Given the description of an element on the screen output the (x, y) to click on. 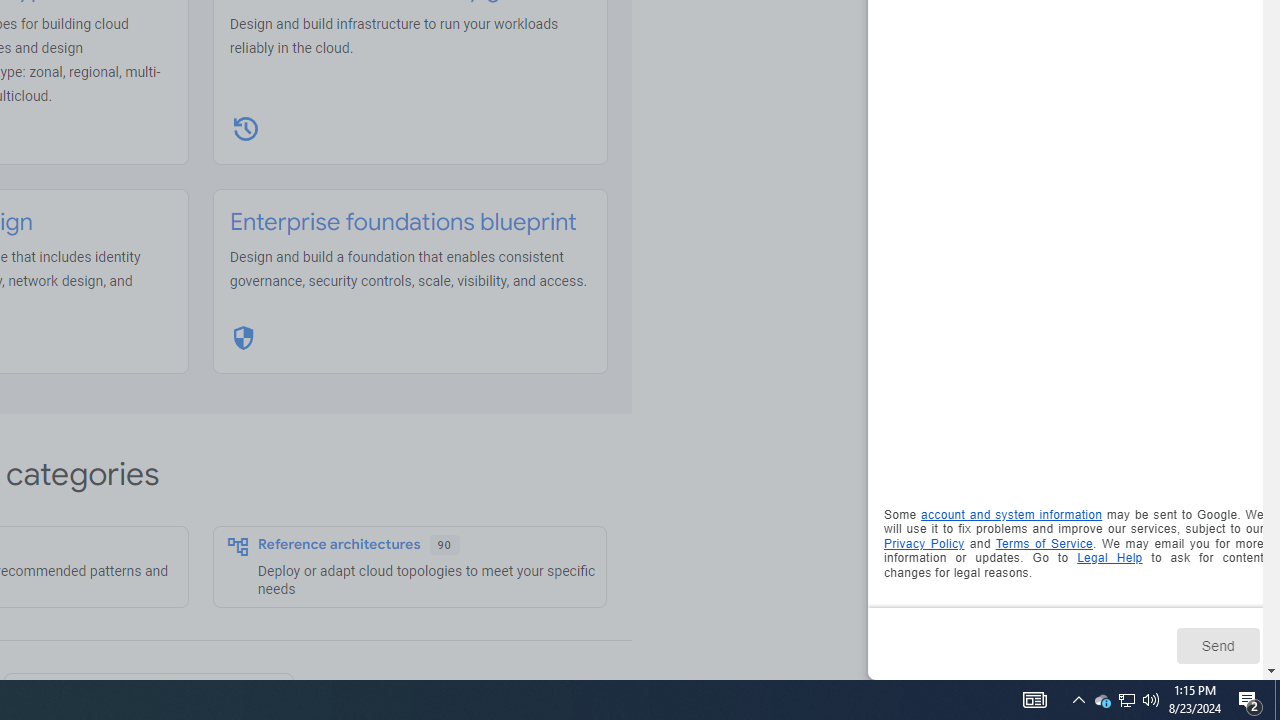
Enterprise foundations blueprint (403, 221)
Opens in a new tab. Legal Help (1109, 557)
Opens in a new tab. Privacy Policy (924, 542)
account and system information (1012, 515)
Opens in a new tab. Terms of Service (1044, 542)
Send (1217, 645)
